Given the description of an element on the screen output the (x, y) to click on. 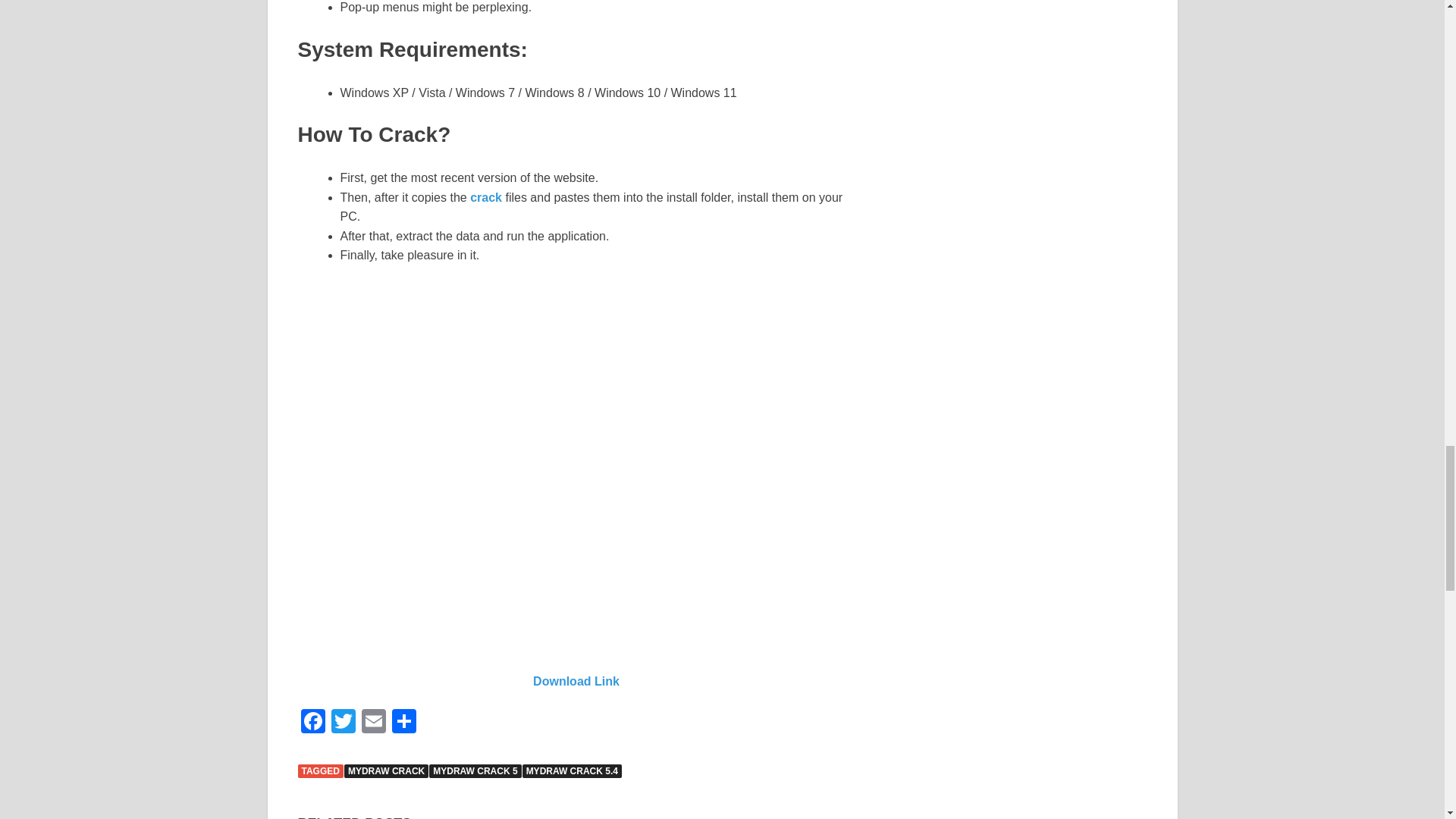
Download Link (576, 680)
MYDRAW CRACK 5 (475, 771)
Twitter (342, 723)
Email (373, 723)
Email (373, 723)
Facebook (312, 723)
crack (486, 196)
MYDRAW CRACK 5.4 (571, 771)
Twitter (342, 723)
